Given the description of an element on the screen output the (x, y) to click on. 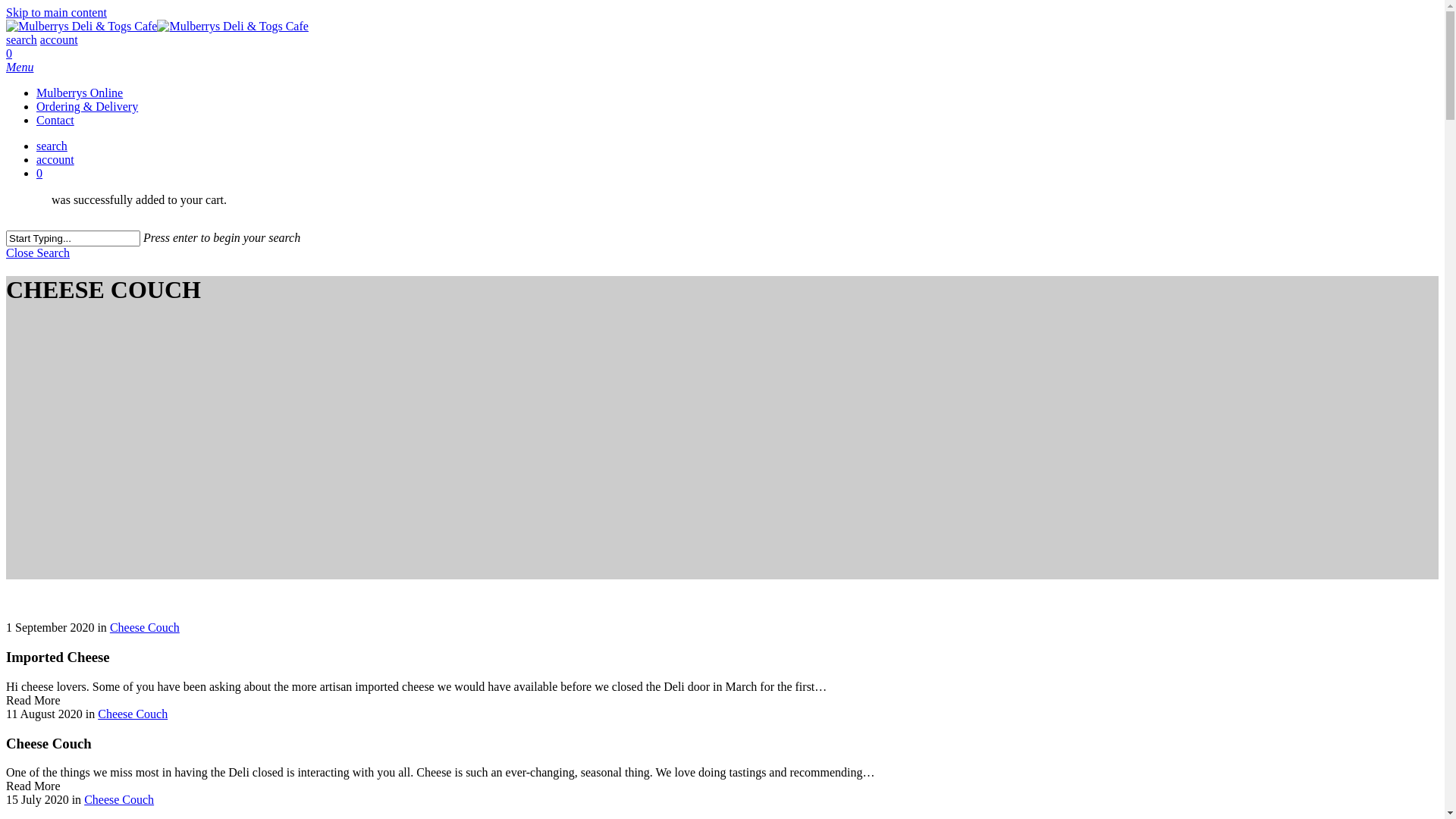
0 Element type: text (737, 173)
Cheese Couch Element type: text (144, 627)
search Element type: text (51, 145)
search Element type: text (21, 39)
account Element type: text (55, 159)
Contact Element type: text (55, 119)
Cheese Couch Element type: text (118, 799)
Mulberrys Online Element type: text (79, 92)
Ordering & Delivery Element type: text (87, 106)
0 Element type: text (722, 60)
account Element type: text (59, 39)
Skip to main content Element type: text (56, 12)
Cheese Couch Element type: text (132, 713)
Close Search Element type: text (37, 252)
Menu Element type: text (19, 66)
